Given the description of an element on the screen output the (x, y) to click on. 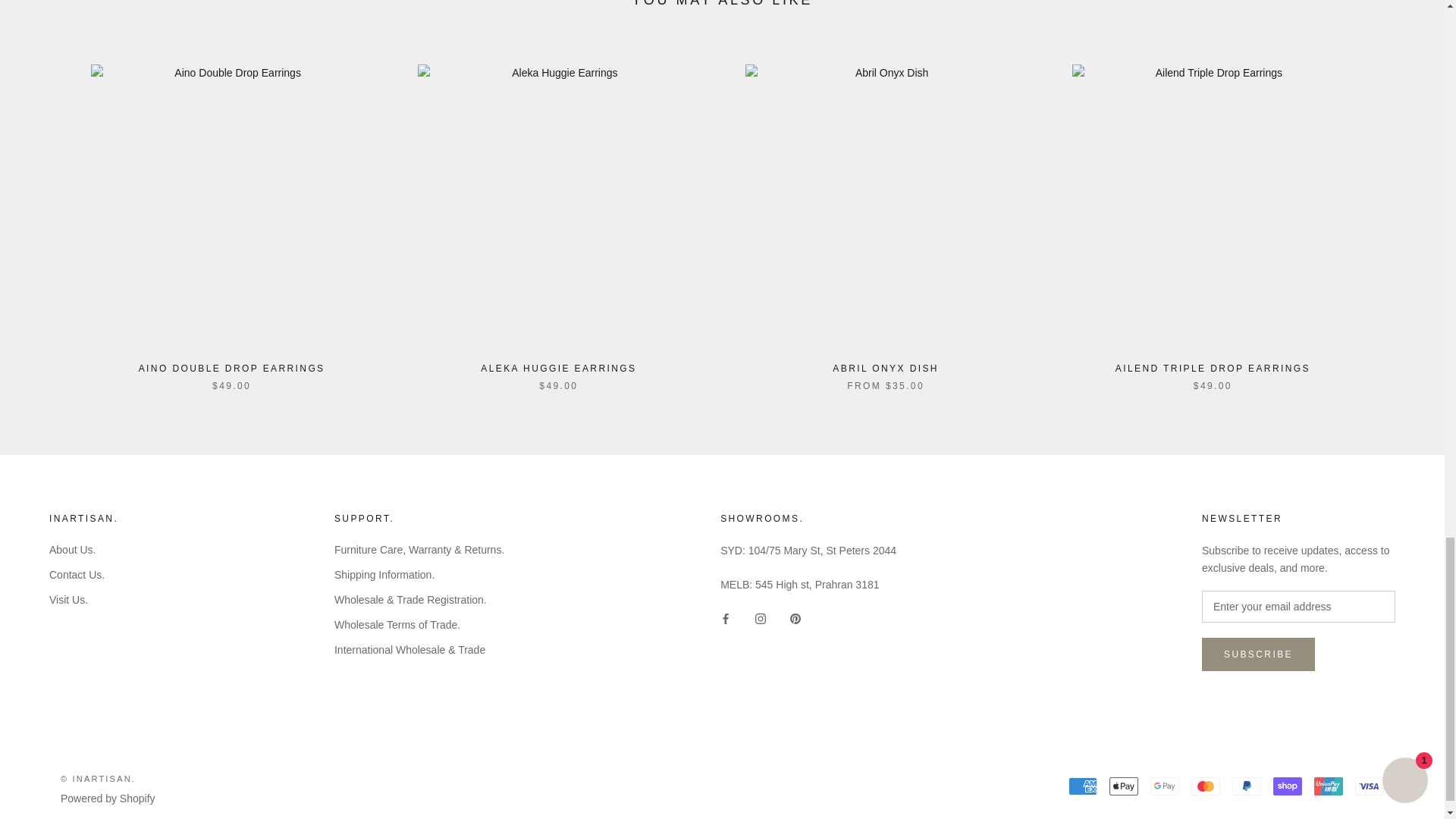
Visa (1369, 786)
PayPal (1245, 786)
Mastercard (1205, 786)
Union Pay (1328, 786)
Apple Pay (1123, 786)
Google Pay (1164, 786)
Shop Pay (1286, 786)
American Express (1082, 786)
